Given the description of an element on the screen output the (x, y) to click on. 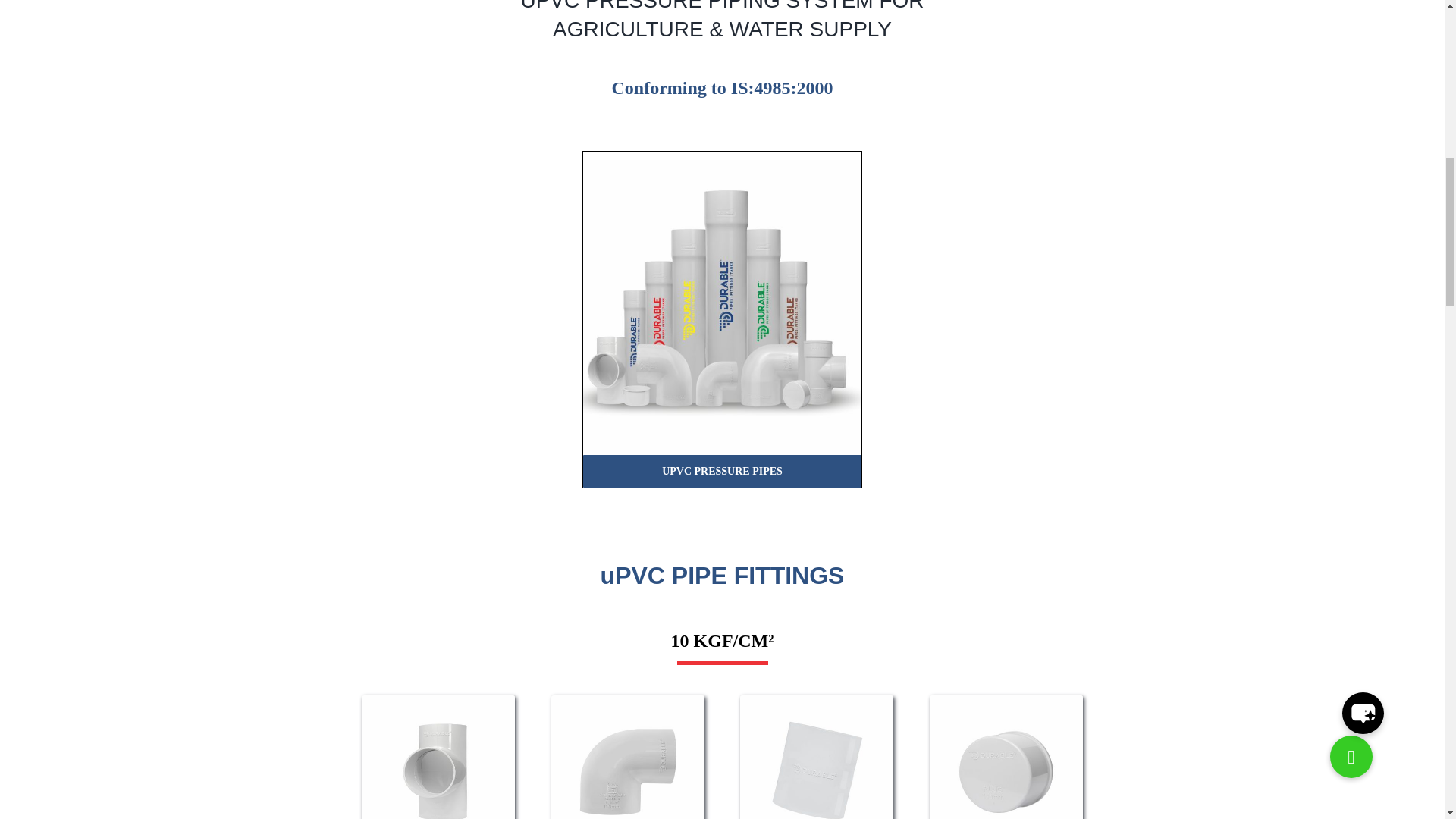
Tee 10kgf (438, 757)
End Cap 10kgf (1006, 757)
Elbow 10 kgf (627, 757)
Coupler 10 kgf (816, 757)
